Given the description of an element on the screen output the (x, y) to click on. 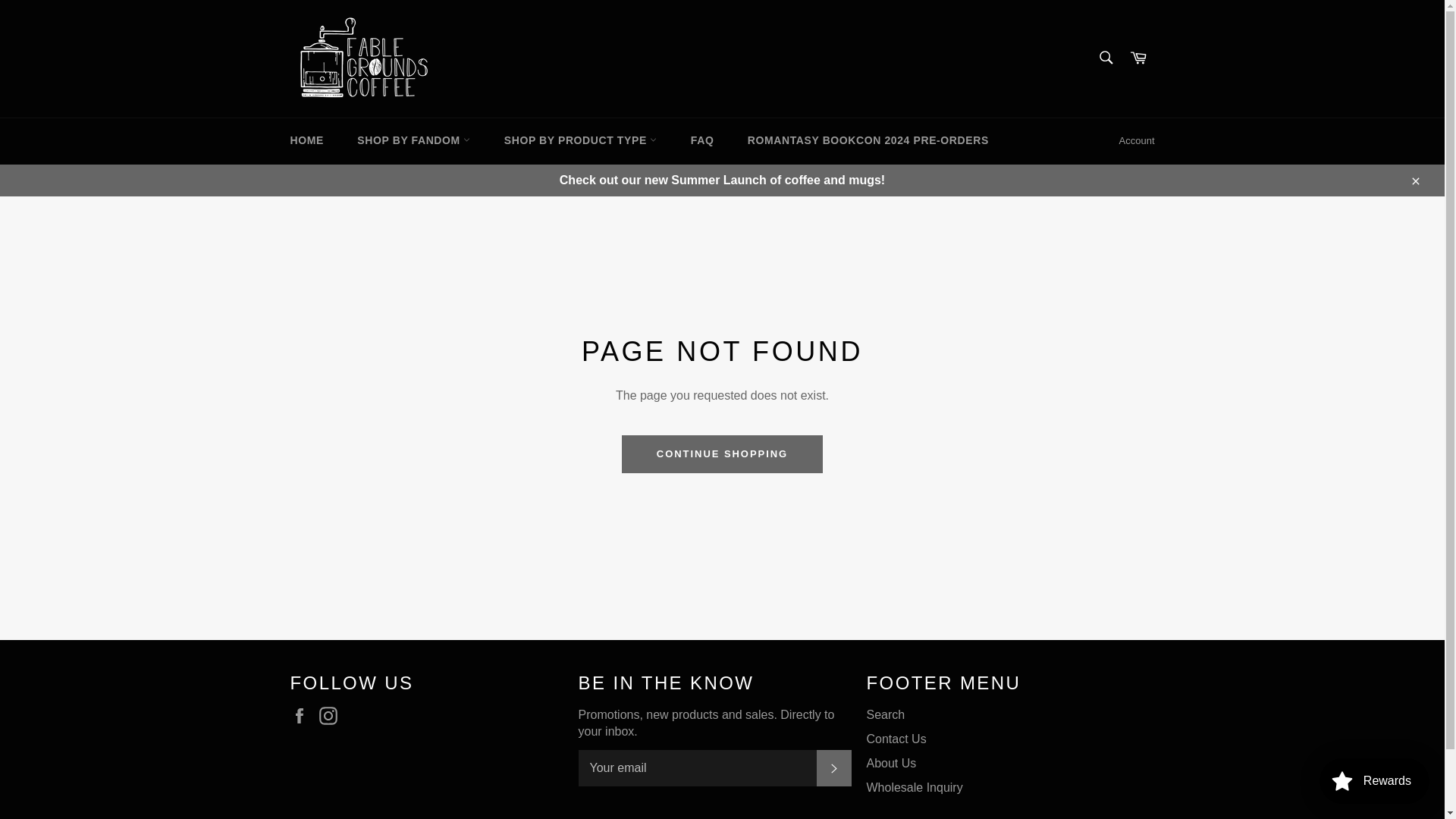
Fable Grounds Coffee on Instagram (331, 715)
Search (1104, 57)
Cart (1138, 58)
Fable Grounds Coffee on Facebook (302, 715)
